Given the description of an element on the screen output the (x, y) to click on. 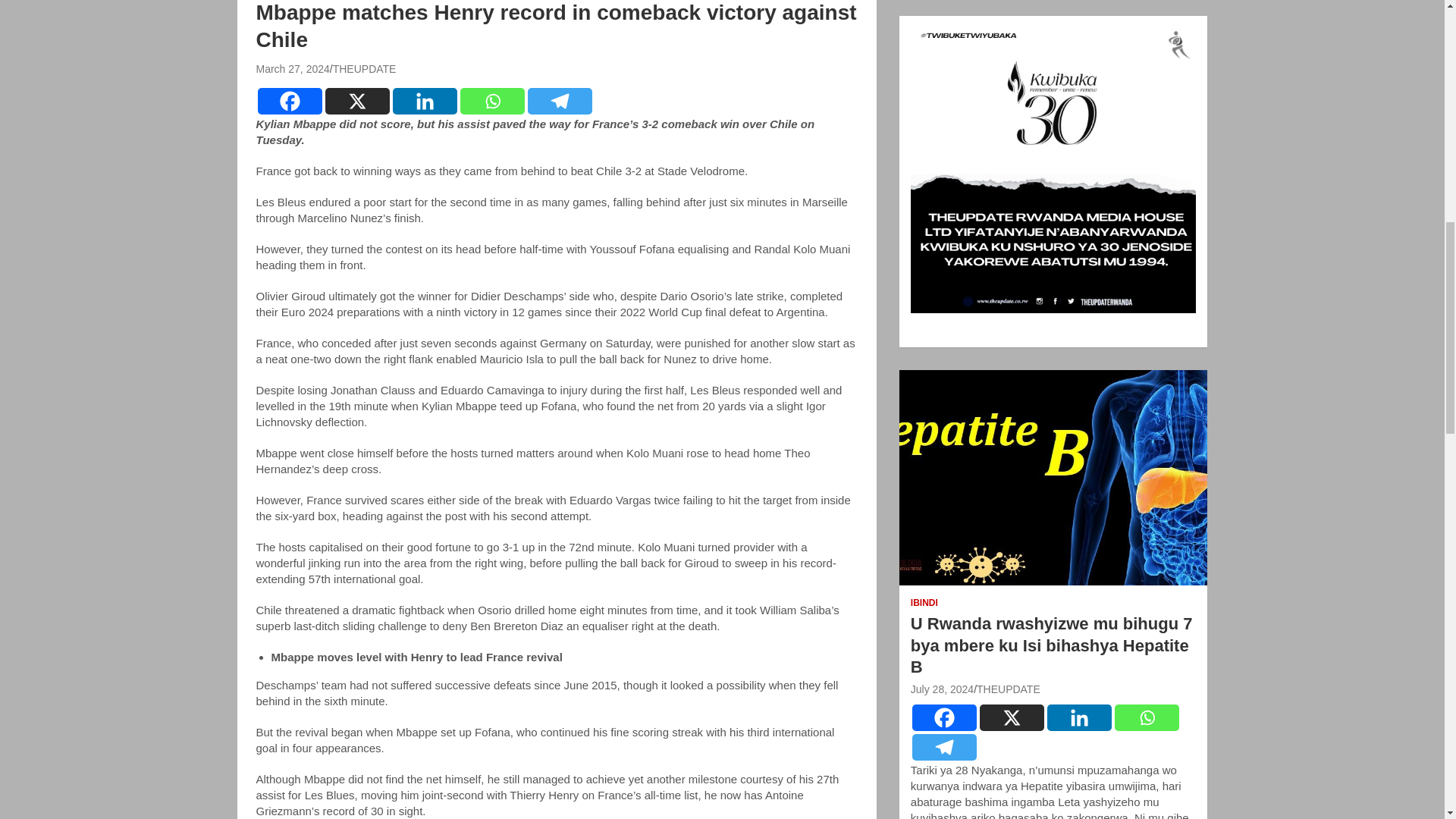
Telegram (944, 746)
Whatsapp (1147, 717)
Whatsapp (492, 100)
X (356, 100)
Telegram (559, 100)
X (1011, 717)
Facebook (944, 717)
Facebook (289, 100)
Linkedin (1079, 717)
Linkedin (425, 100)
